Given the description of an element on the screen output the (x, y) to click on. 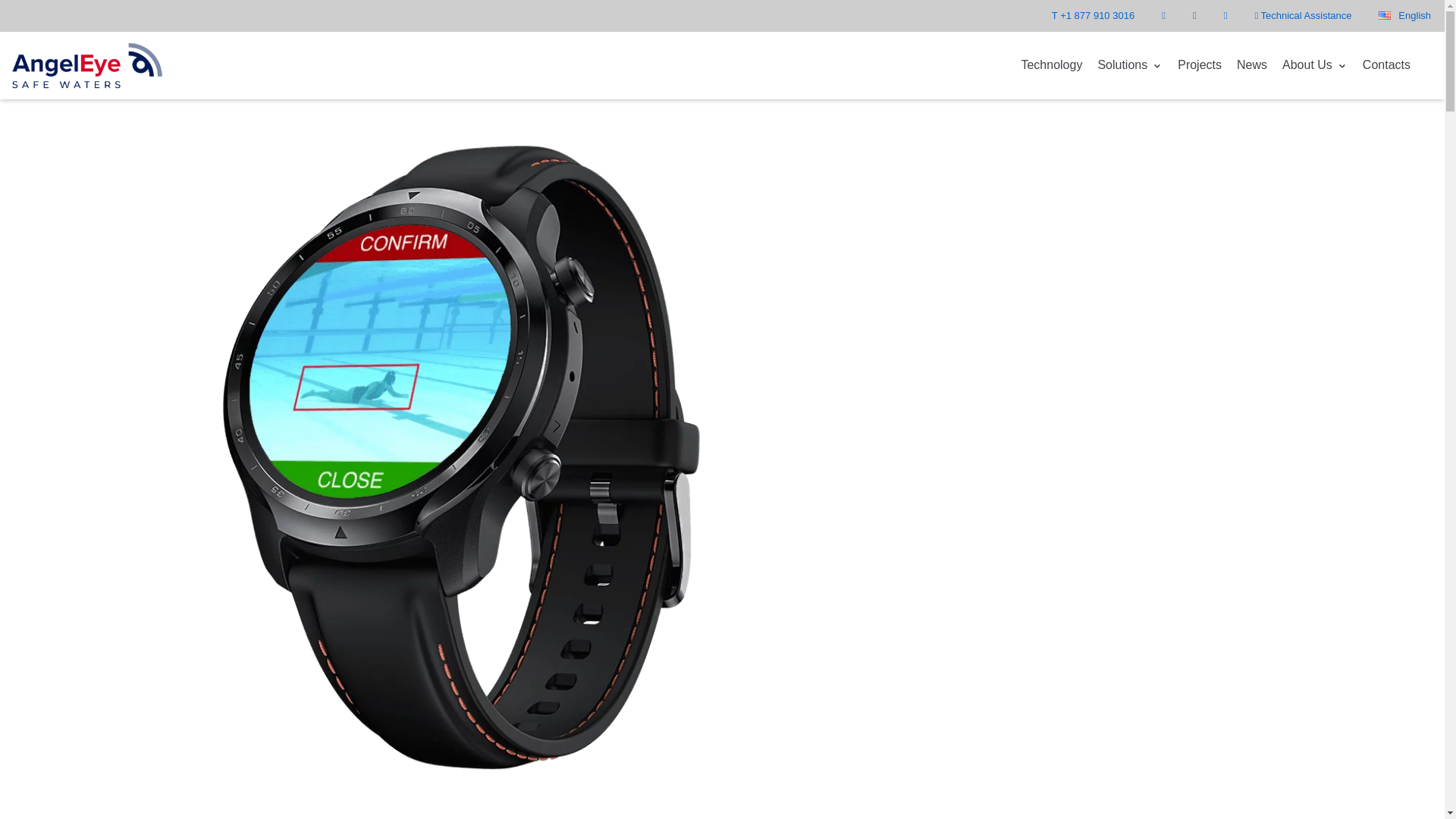
About Us (1315, 65)
English (1404, 15)
Technical Assistance (1302, 15)
Contacts (1386, 65)
AngelEye (87, 65)
News (1251, 65)
Projects (1199, 65)
Solutions (1129, 65)
Skip to content (15, 7)
Technology (1050, 65)
